Given the description of an element on the screen output the (x, y) to click on. 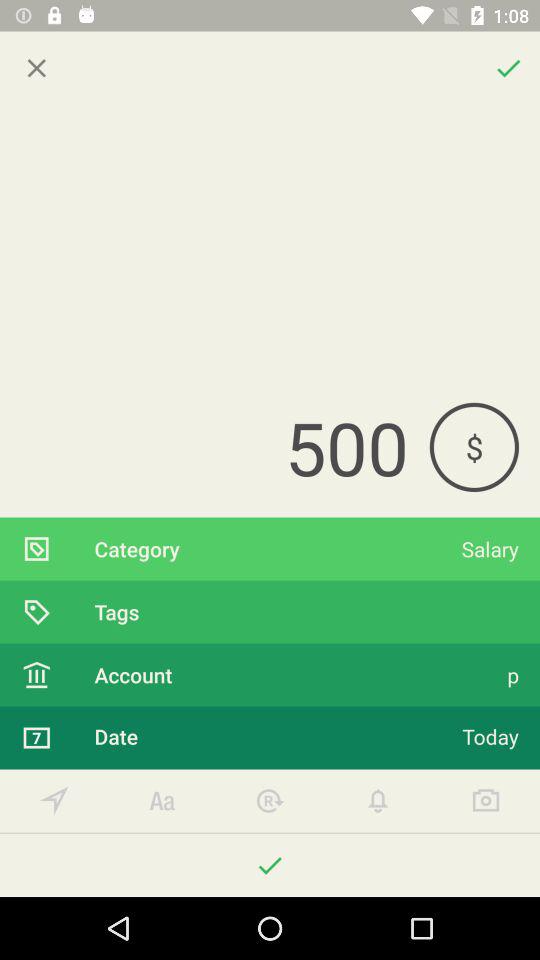
toggle notifications (378, 800)
